Given the description of an element on the screen output the (x, y) to click on. 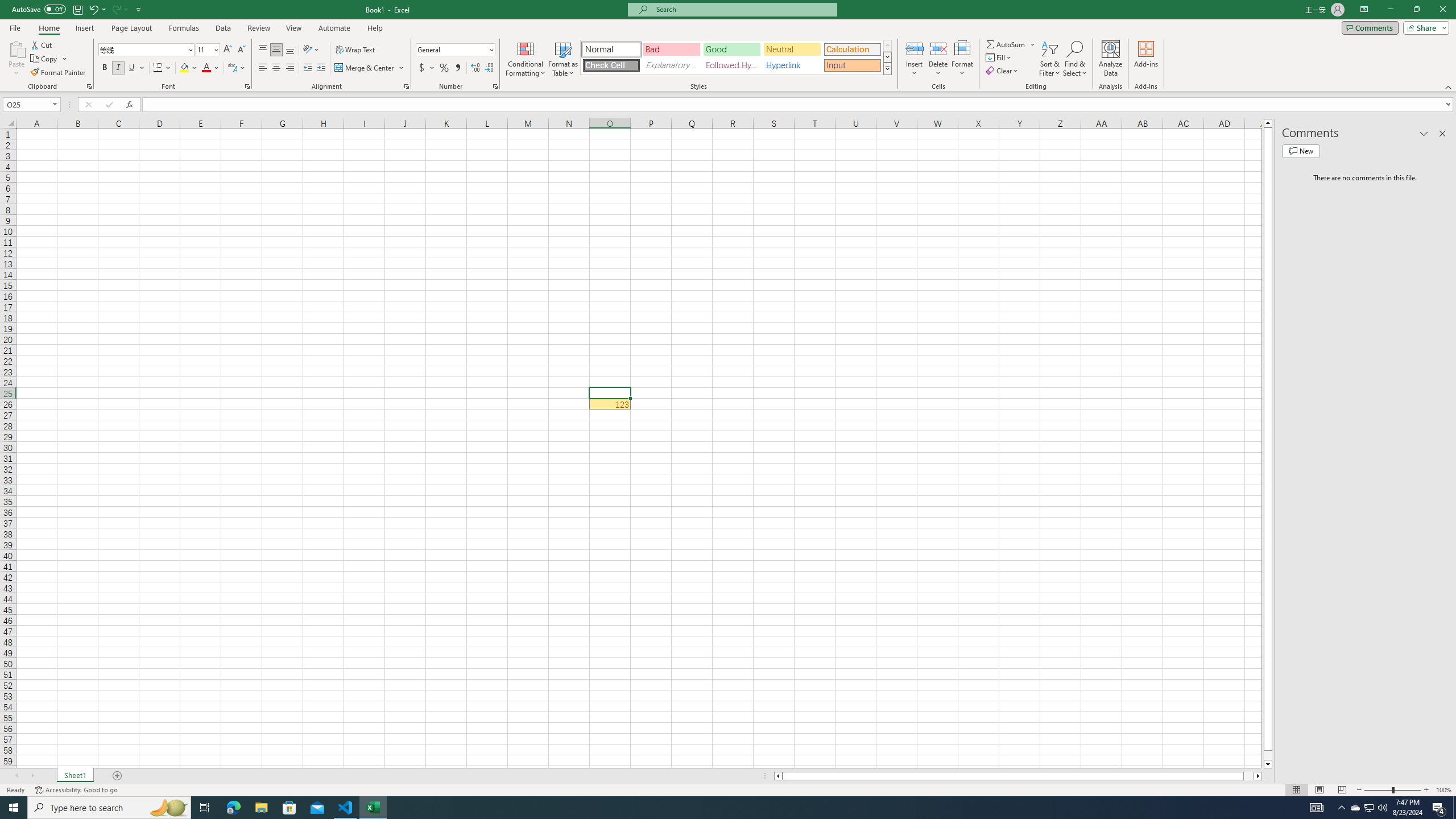
Hyperlink (791, 65)
Wrap Text (355, 49)
Copy (49, 58)
Decrease Indent (307, 67)
Font Color RGB(255, 0, 0) (206, 67)
Close pane (1441, 133)
Align Right (290, 67)
Neutral (791, 49)
Format Cell Font (247, 85)
